Given the description of an element on the screen output the (x, y) to click on. 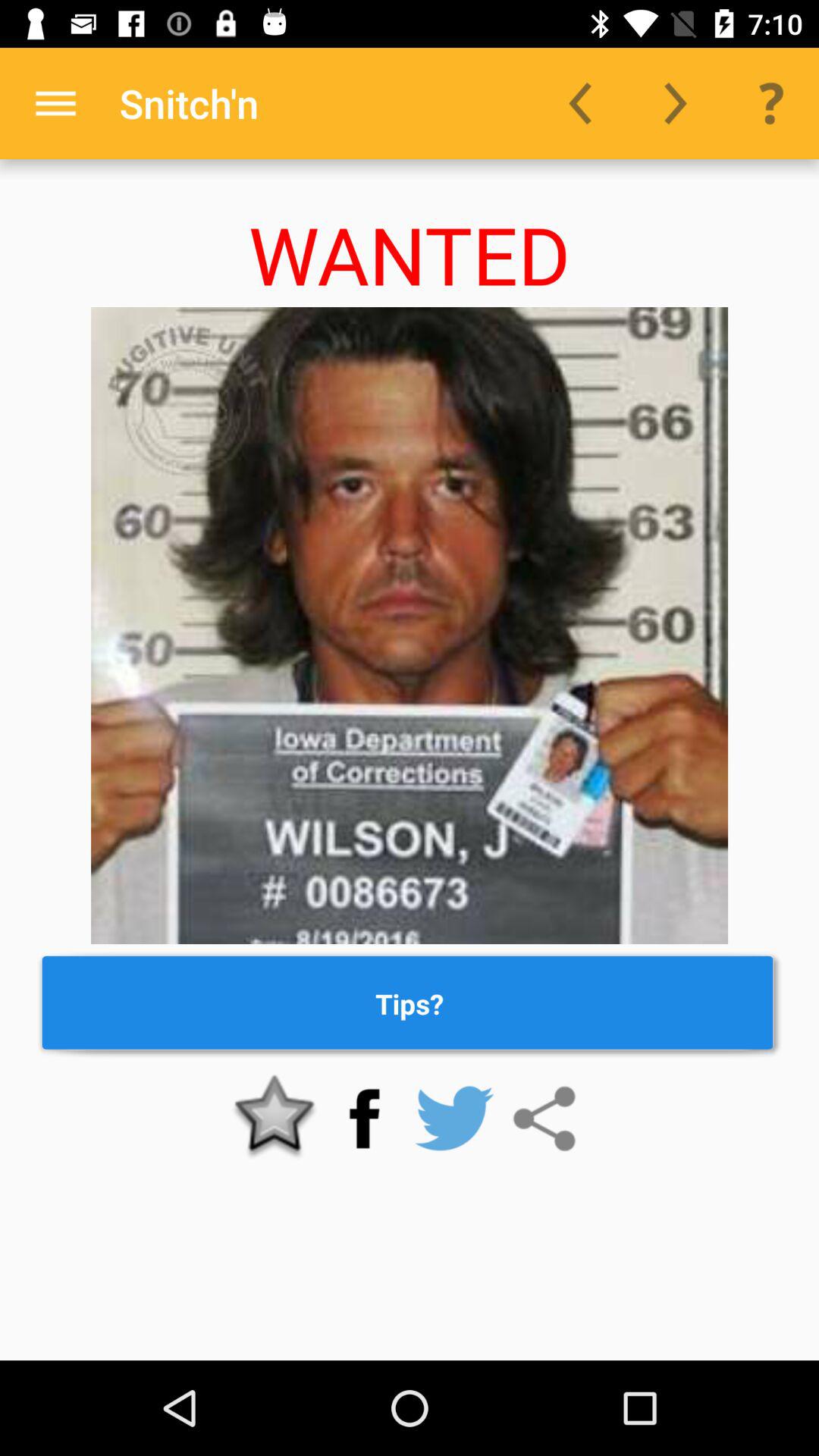
toggle favorite button (274, 1118)
